Given the description of an element on the screen output the (x, y) to click on. 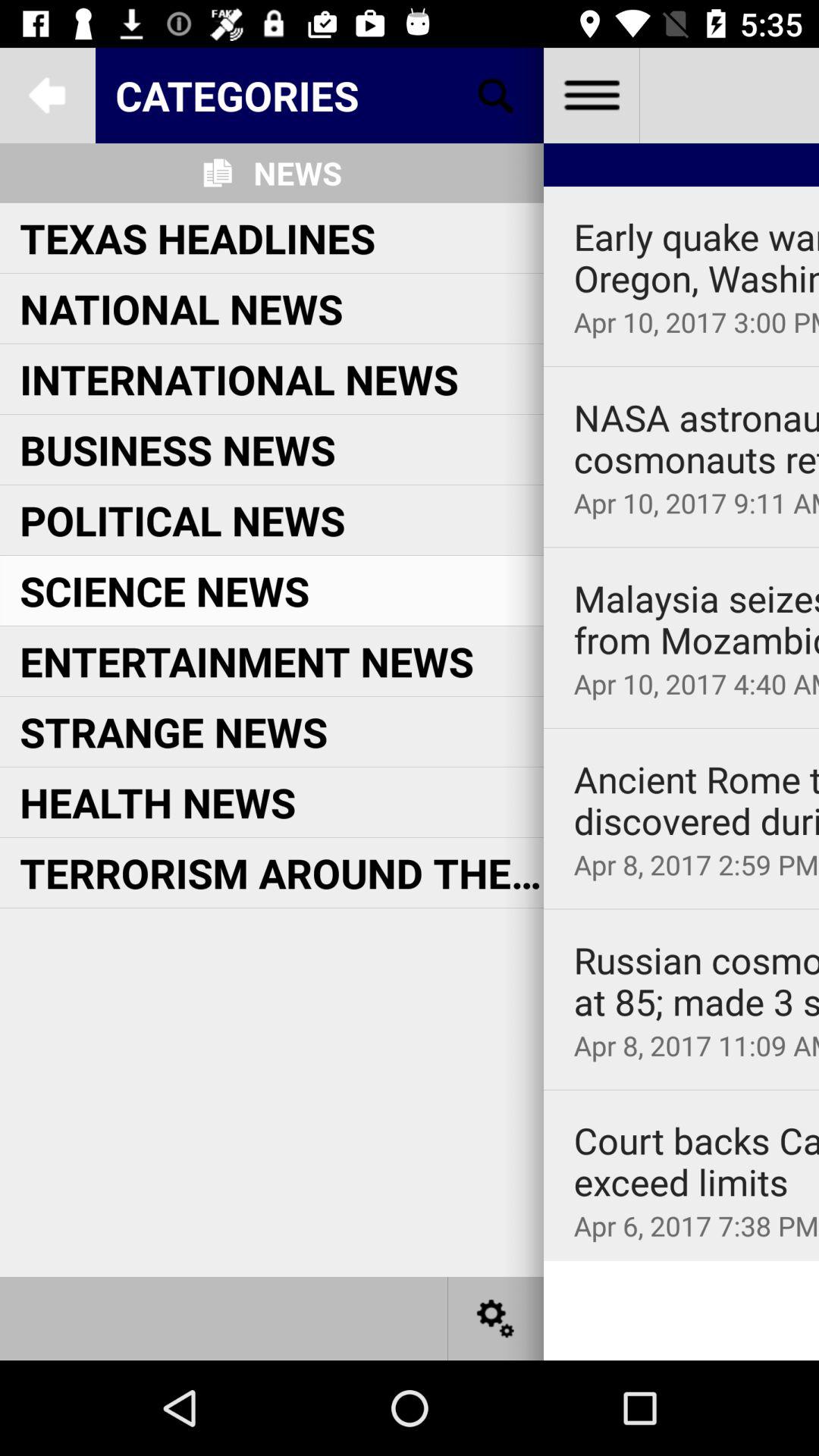
launch malaysia seizes 18 (696, 619)
